Given the description of an element on the screen output the (x, y) to click on. 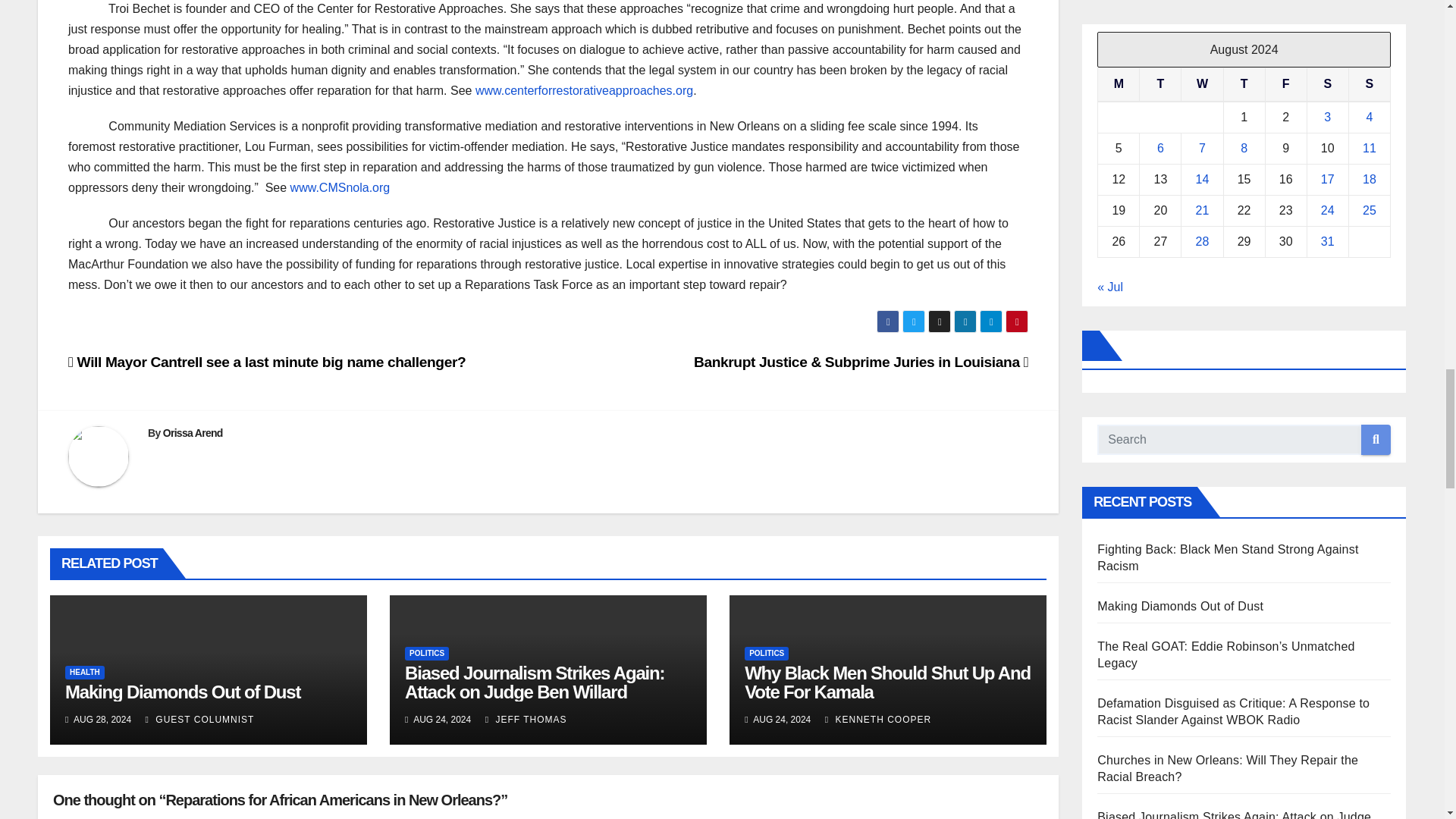
GUEST COLUMNIST (199, 719)
www.centerforrestorativeapproaches.org (584, 90)
Making Diamonds Out of Dust (182, 691)
Sunday (1369, 83)
Thursday (1244, 83)
Friday (1285, 83)
KENNETH COOPER (878, 719)
HEALTH (84, 672)
JEFF THOMAS (525, 719)
www.CMSnola.org (339, 187)
